Given the description of an element on the screen output the (x, y) to click on. 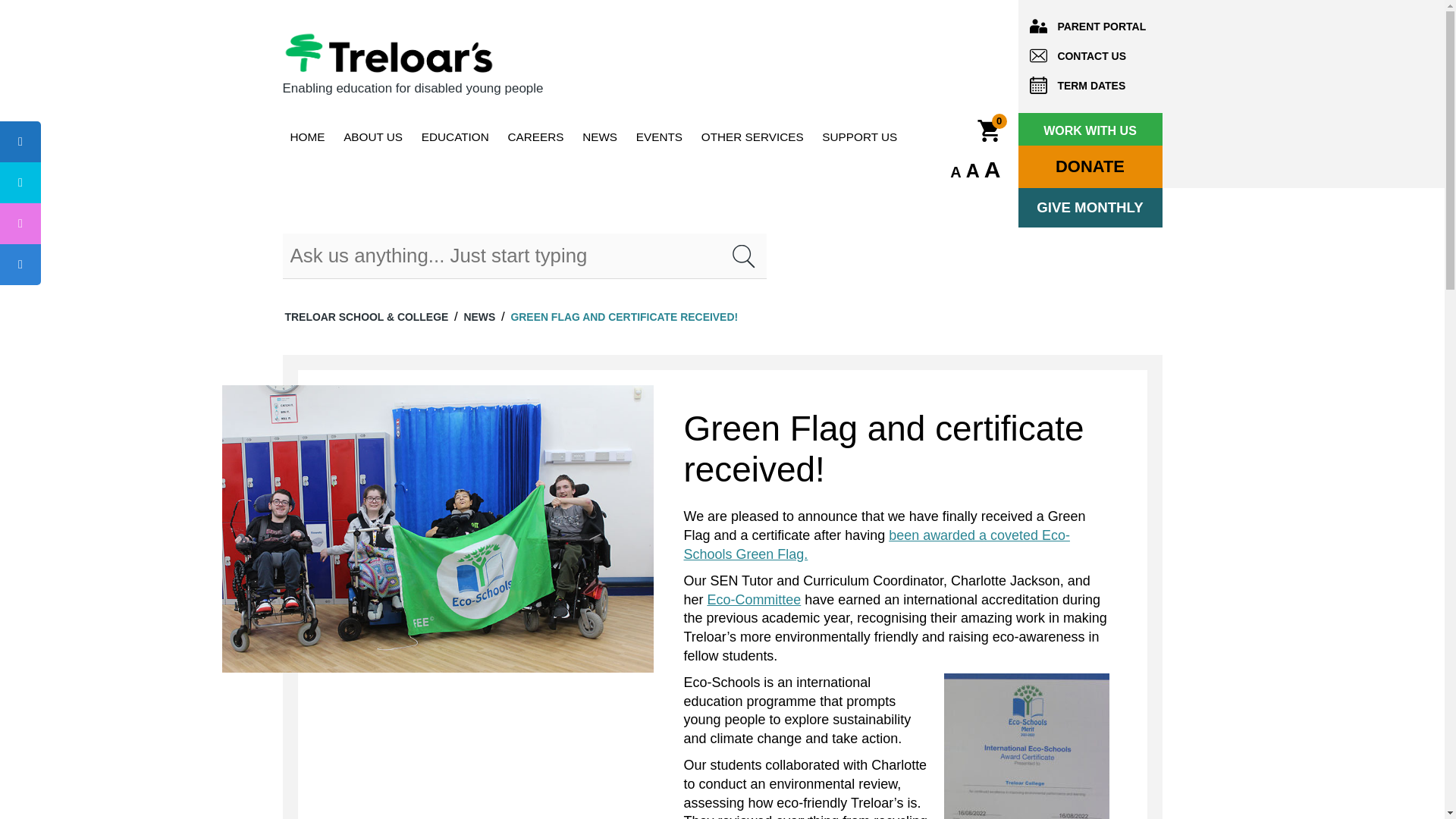
OTHER SERVICES (752, 136)
HOME (306, 136)
work with us, job opportunities and volunteering (534, 136)
CAREERS (534, 136)
Go to News. (479, 316)
View your shopping cart (999, 120)
ABOUT US (373, 136)
EDUCATION (454, 136)
EVENTS (659, 136)
NEWS (599, 136)
SUPPORT US (858, 136)
